Given the description of an element on the screen output the (x, y) to click on. 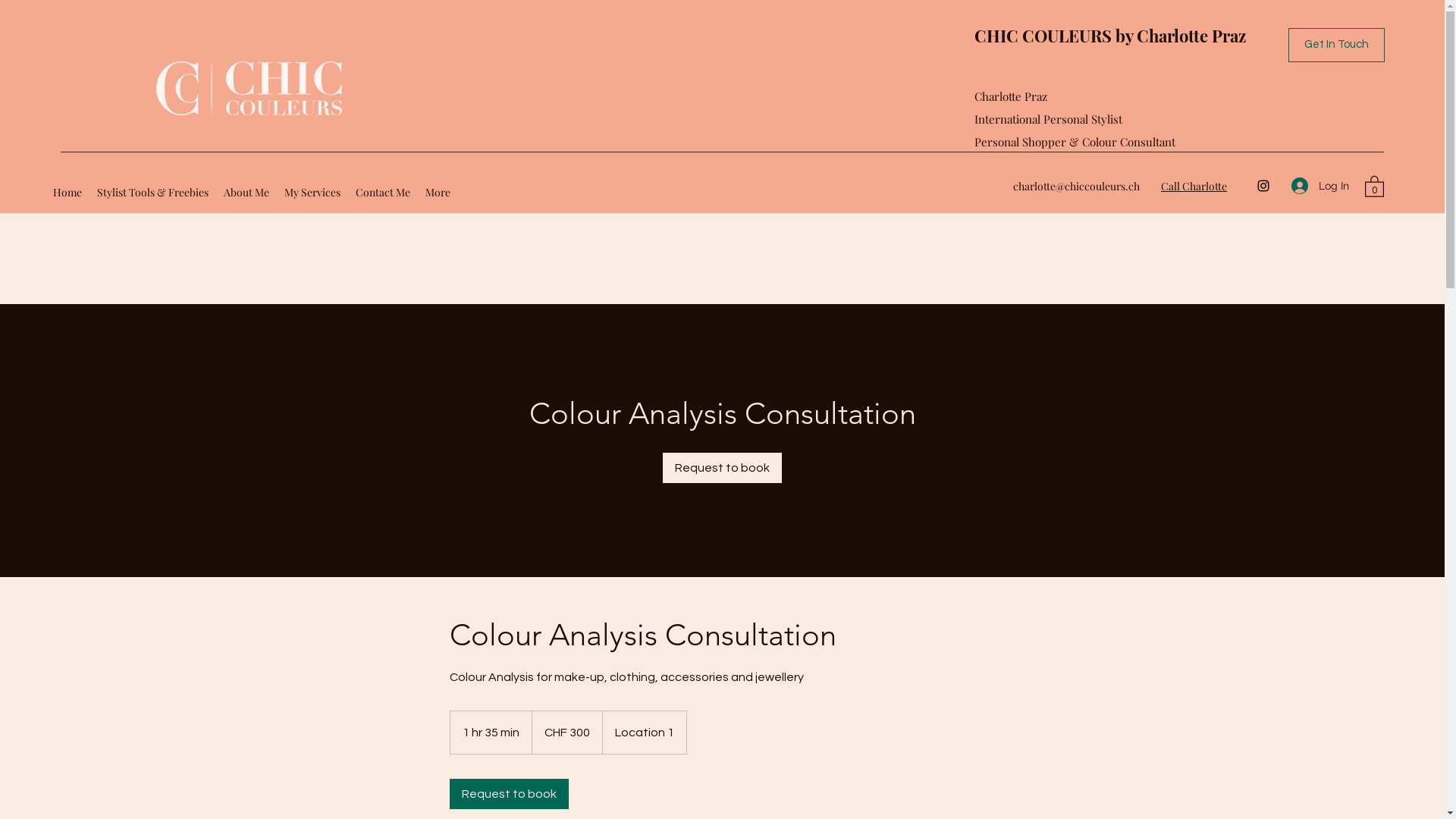
Request to book Element type: text (507, 793)
My Services Element type: text (312, 192)
Home Element type: text (67, 192)
Log In Element type: text (1319, 186)
Get In Touch Element type: text (1336, 45)
About Me Element type: text (246, 192)
Stylist Tools & Freebies Element type: text (152, 192)
Request to book Element type: text (721, 467)
charlotte@chiccouleurs.ch Element type: text (1076, 185)
Contact Me Element type: text (382, 192)
0 Element type: text (1374, 185)
